Given the description of an element on the screen output the (x, y) to click on. 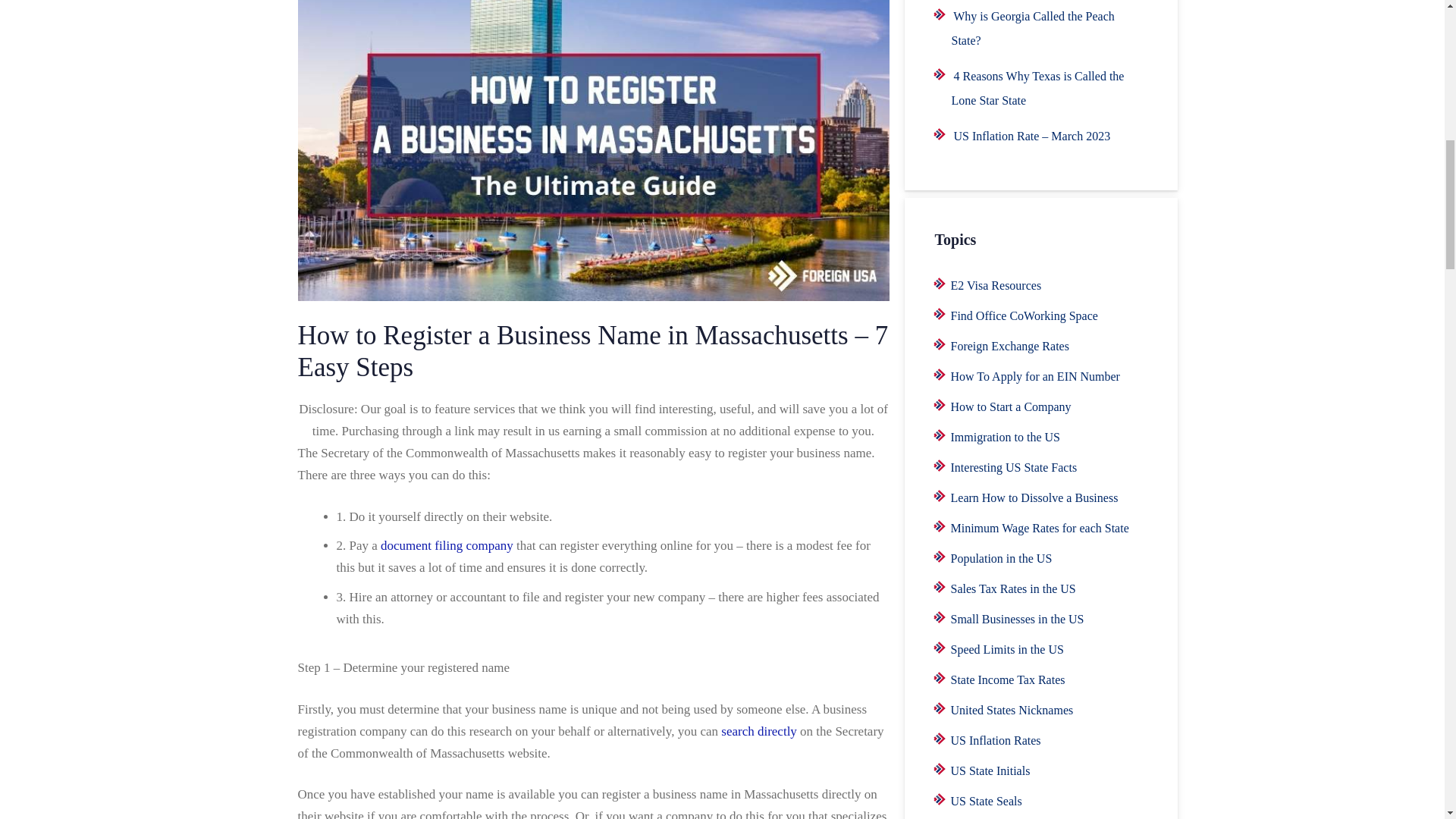
Scroll back to top (1406, 720)
document filing company (446, 545)
search directly (758, 730)
